Given the description of an element on the screen output the (x, y) to click on. 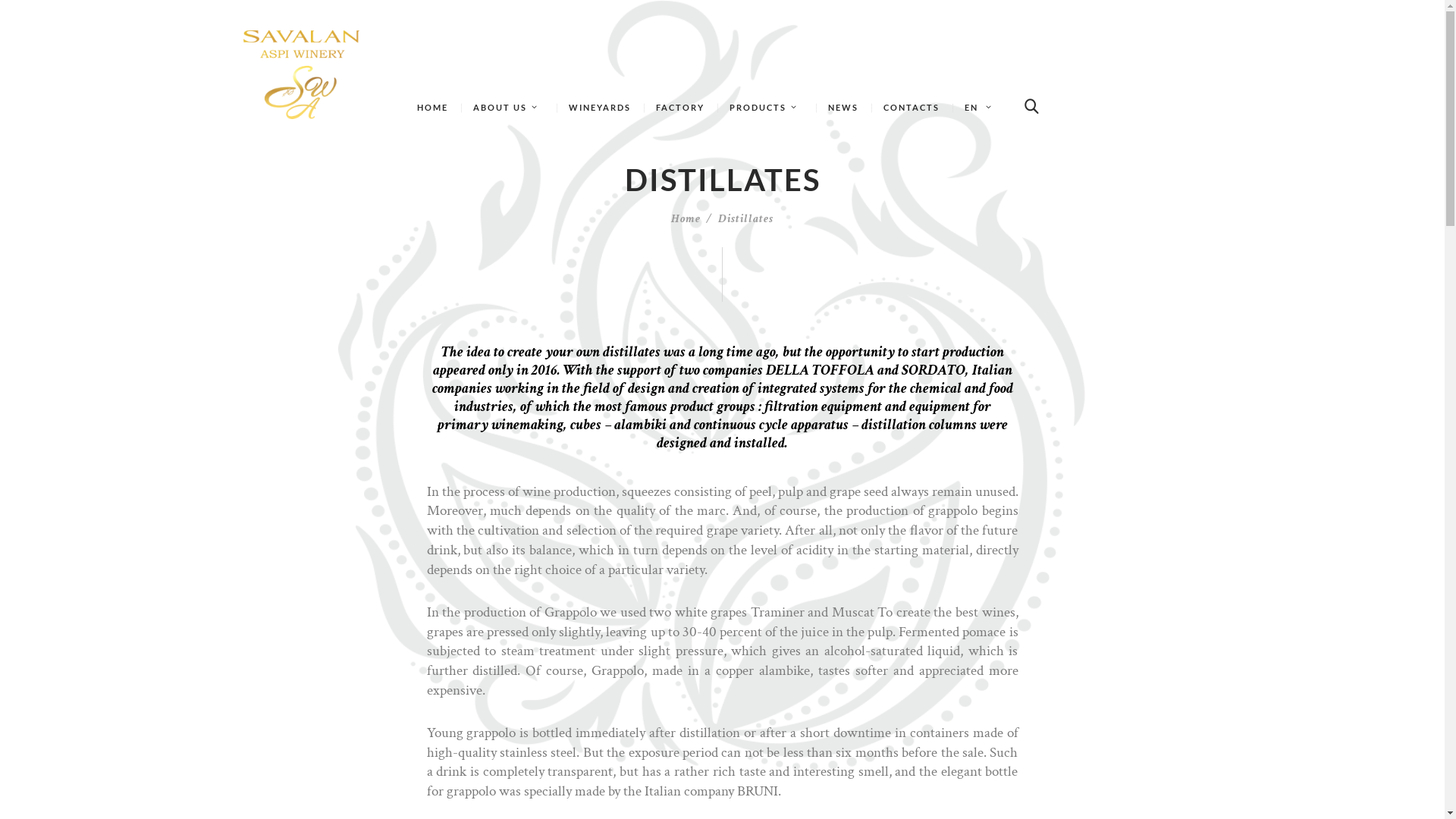
ABOUT US Element type: text (508, 107)
EN  Element type: text (981, 107)
FACTORY Element type: text (680, 107)
CONTACTS Element type: text (911, 107)
Home Element type: text (685, 219)
HOME Element type: text (432, 107)
NEWS Element type: text (843, 107)
PRODUCTS Element type: text (766, 107)
WINEYARDS Element type: text (599, 107)
